Given the description of an element on the screen output the (x, y) to click on. 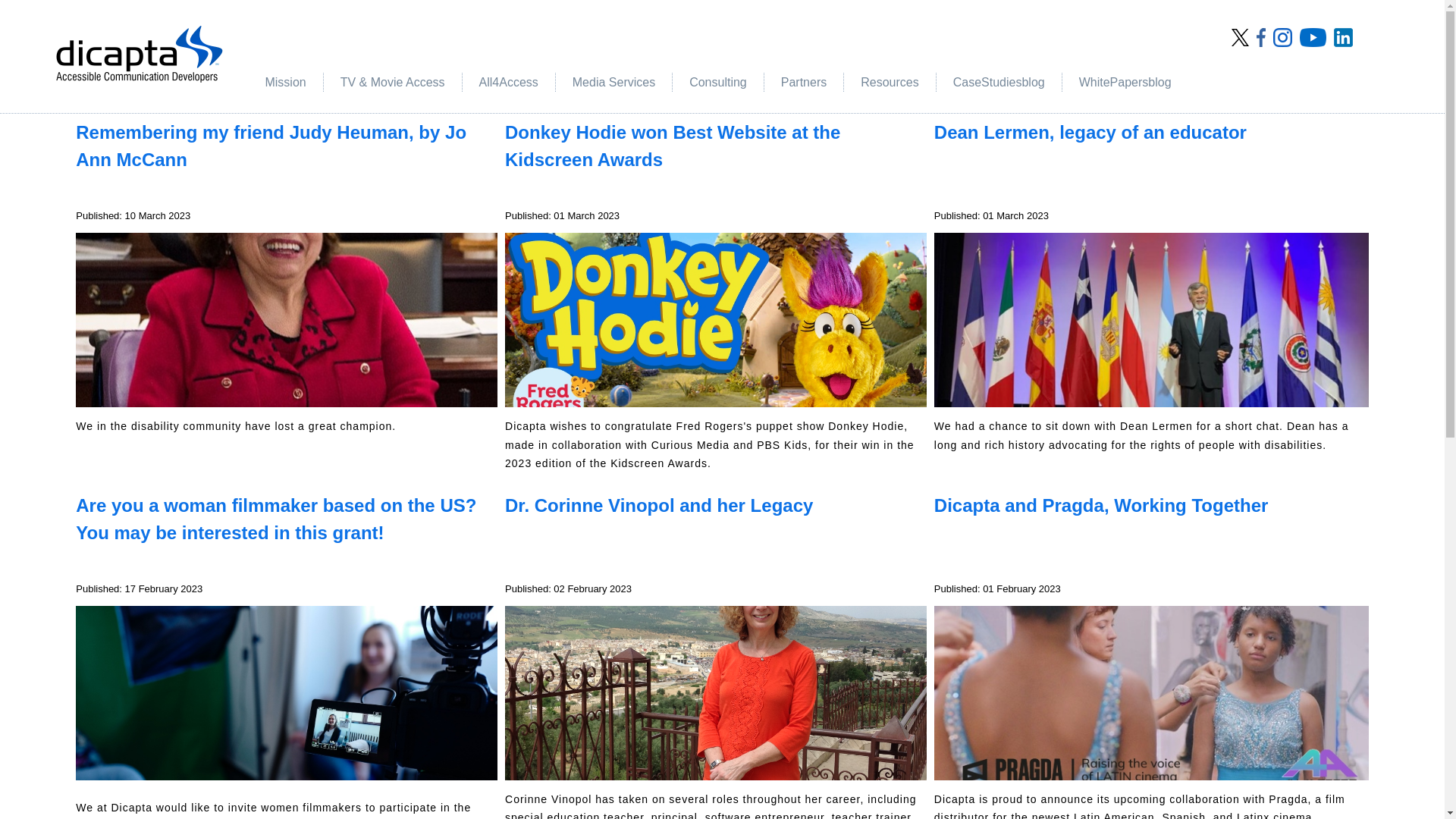
Resources (889, 82)
WhitePapersblog (1125, 82)
Donkey Hodie won Best Website at the Kidscreen Awards (672, 145)
Dean Lermen, legacy of an educator (1090, 132)
Partners (804, 82)
Dicapta and Pragda, Working Together (1101, 504)
Remembering my friend Judy Heuman, by Jo Ann McCann (270, 145)
Consulting (718, 82)
CaseStudiesblog (999, 82)
